Given the description of an element on the screen output the (x, y) to click on. 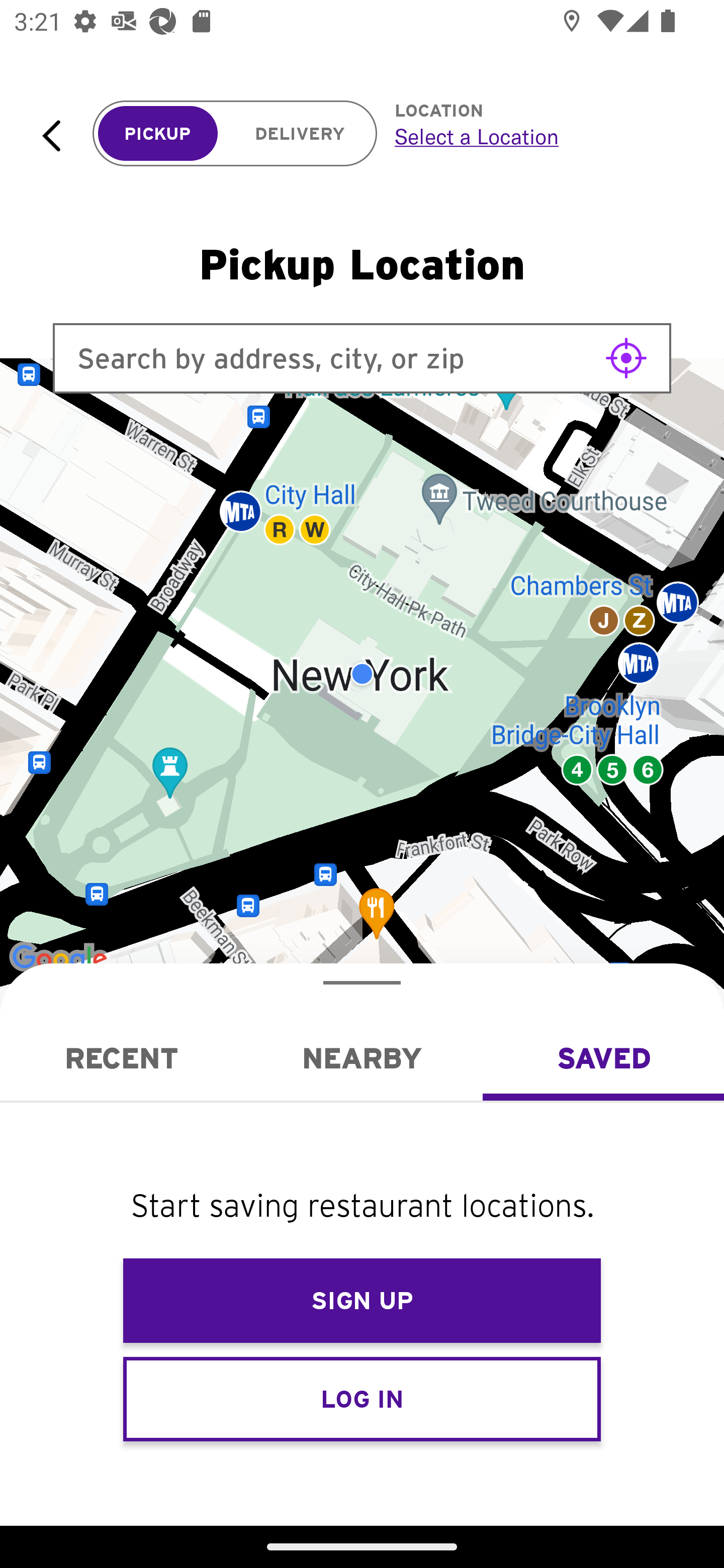
PICKUP (157, 133)
DELIVERY (299, 133)
Select a Location (536, 136)
Search by address, city, or zip (361, 358)
Google Map (362, 674)
Recent RECENT (120, 1058)
Nearby NEARBY (361, 1058)
SIGN UP (361, 1300)
LOG IN (361, 1398)
